Given the description of an element on the screen output the (x, y) to click on. 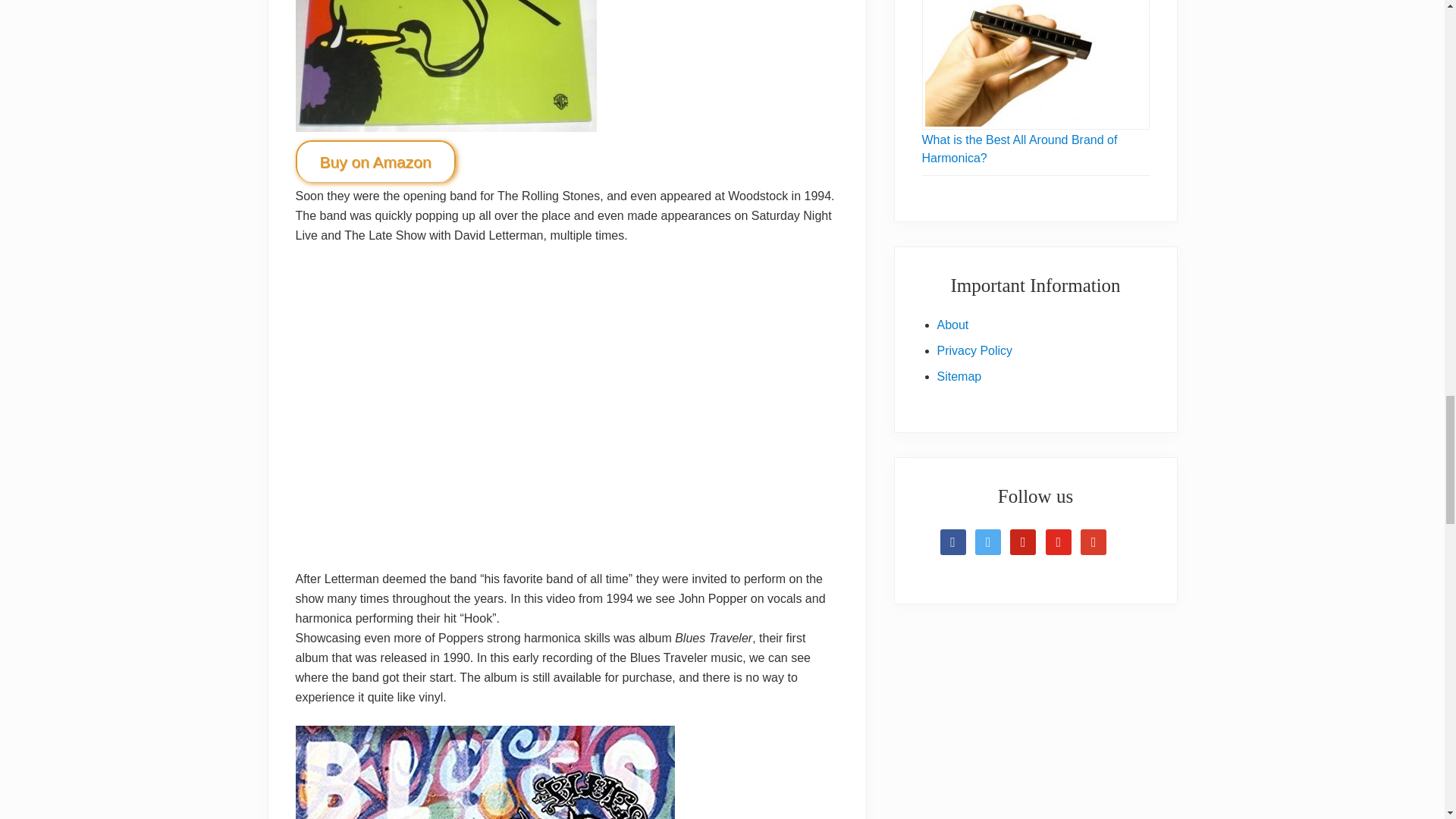
Follow Me (988, 540)
Buy on Amazon (375, 160)
Friend me on Facebook (953, 540)
